Given the description of an element on the screen output the (x, y) to click on. 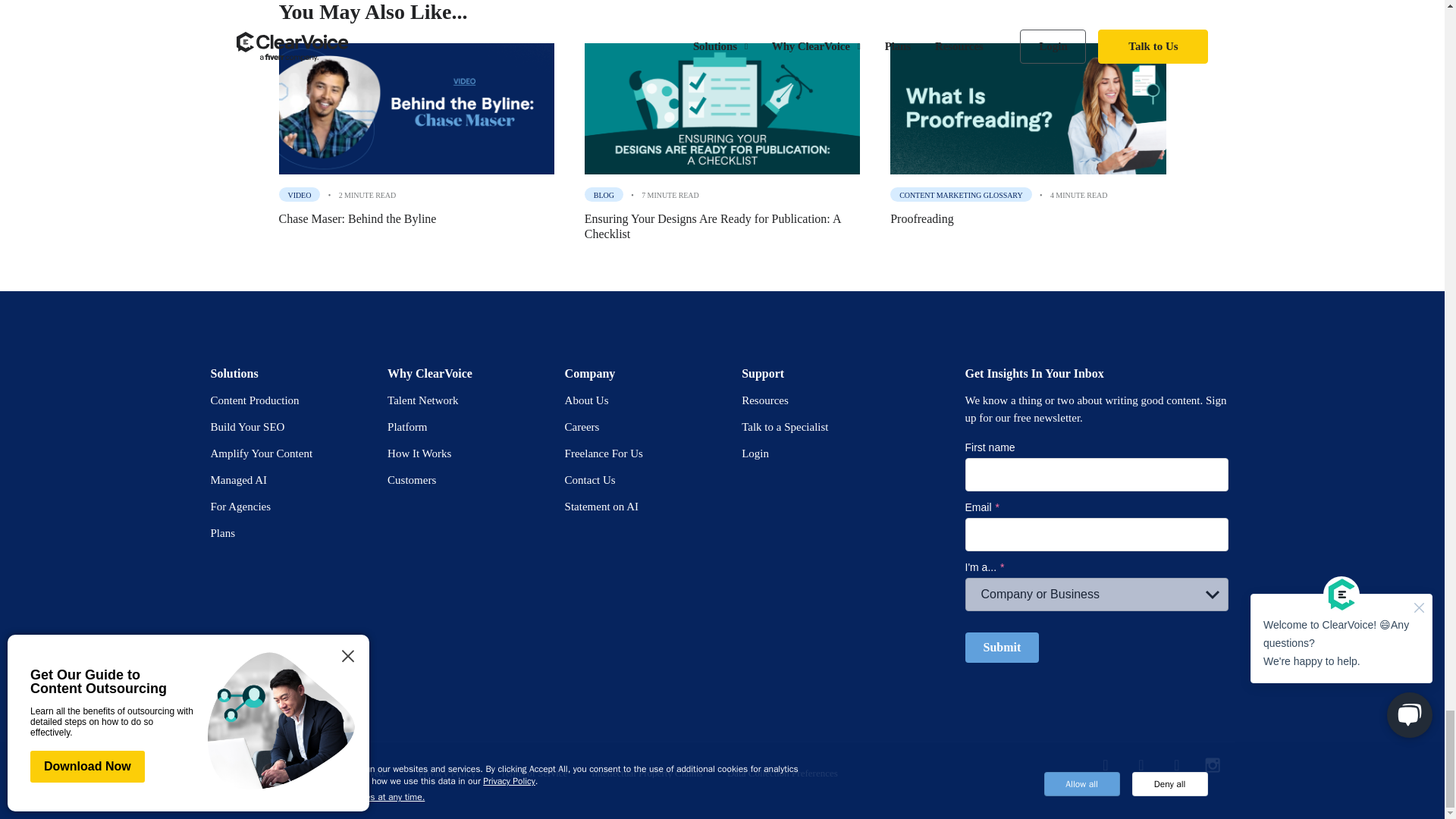
Submit (1001, 647)
